Given the description of an element on the screen output the (x, y) to click on. 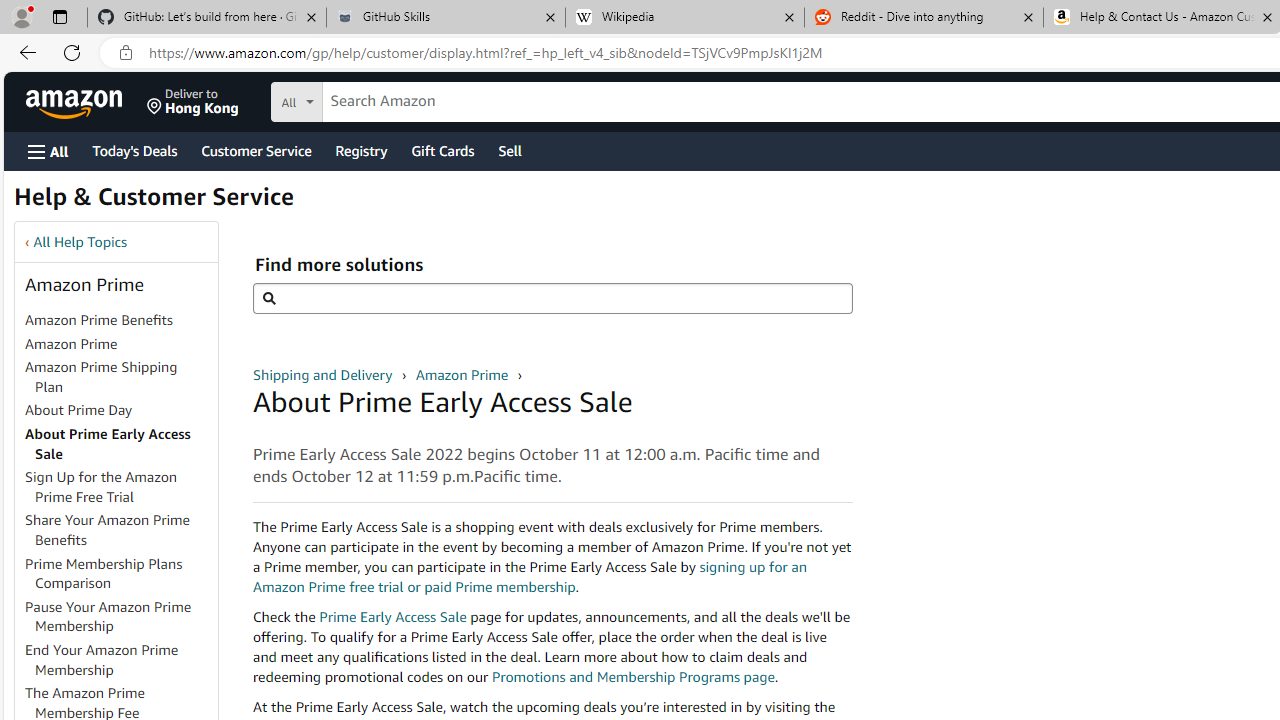
End Your Amazon Prime Membership (120, 660)
Promotions and Membership Programs page (632, 676)
Help & Customer Service (154, 201)
Amazon Prime Benefits (120, 321)
Prime Membership Plans Comparison (104, 573)
Amazon Prime (71, 343)
End Your Amazon Prime Membership (102, 659)
About Prime Day (120, 411)
Pause Your Amazon Prime Membership (120, 616)
Sign Up for the Amazon Prime Free Trial (120, 488)
About Prime Day (79, 410)
